Given the description of an element on the screen output the (x, y) to click on. 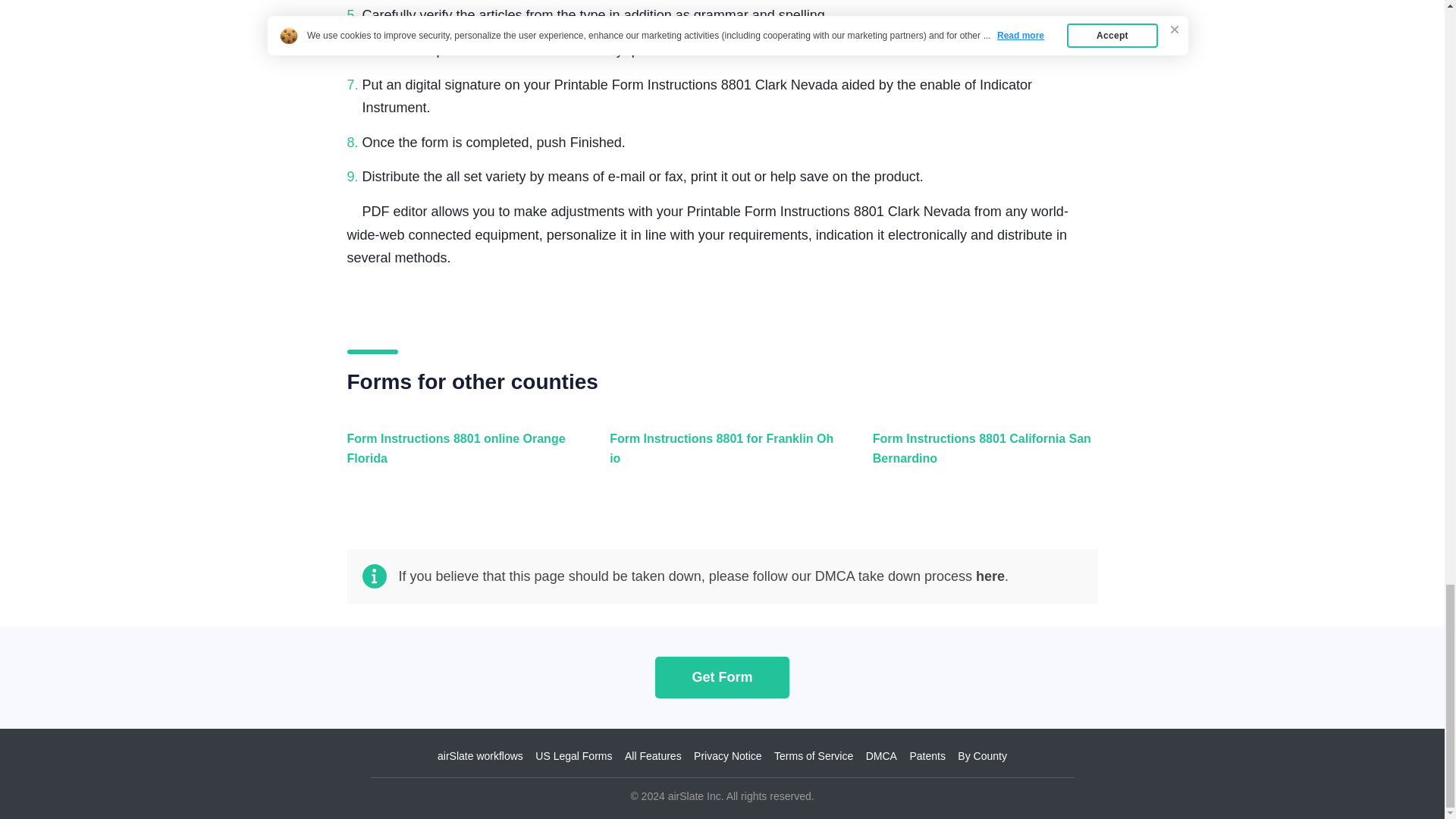
here (989, 575)
All Features (652, 756)
airSlate workflows (480, 756)
US Legal Forms (573, 756)
Privacy Notice (727, 756)
DMCA (881, 756)
Patents (926, 756)
Terms of Service (813, 756)
By County (982, 756)
Form Instructions 8801 online Orange Florida (456, 456)
